Given the description of an element on the screen output the (x, y) to click on. 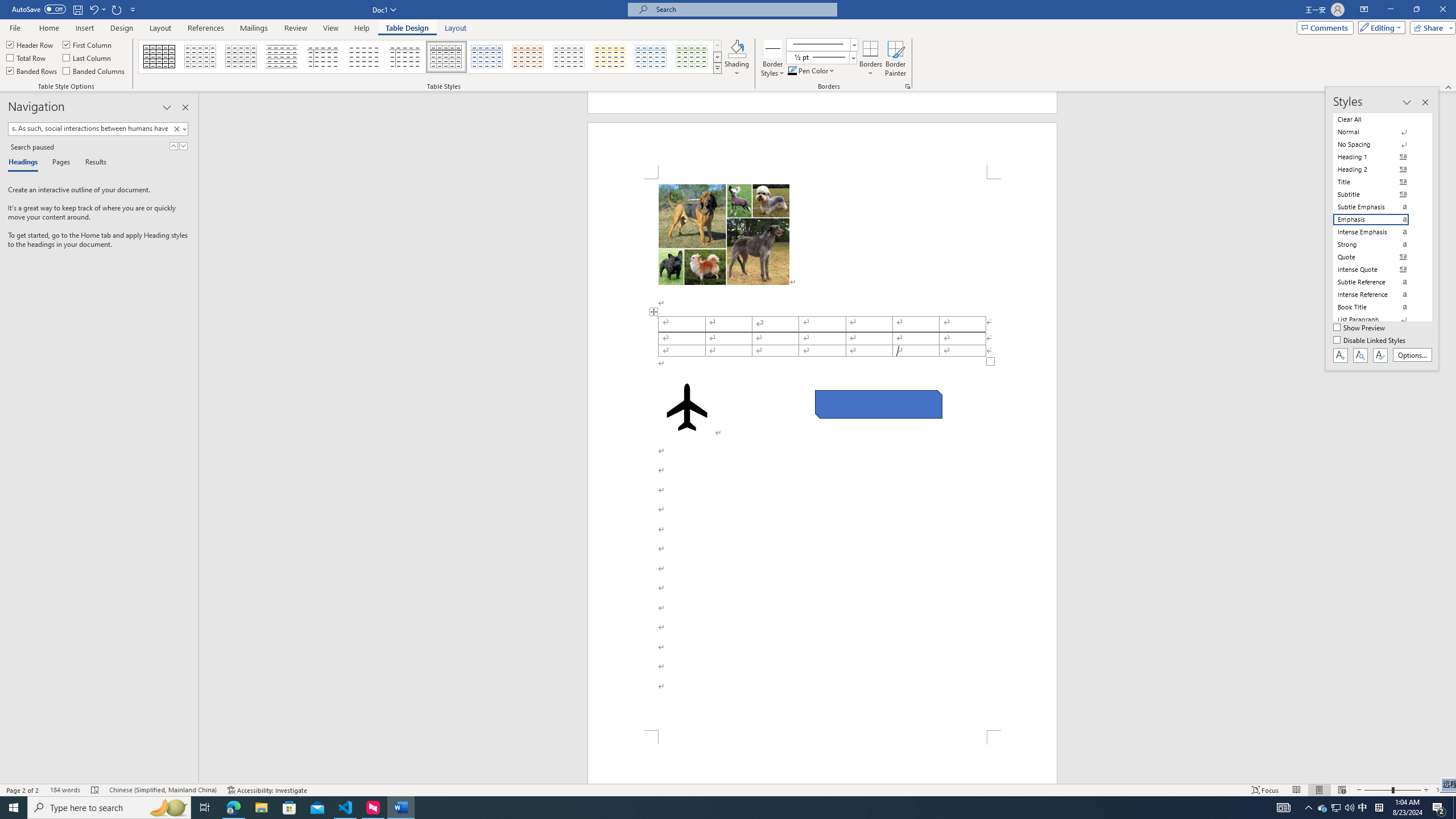
Subtle Reference (1377, 282)
Previous Result (173, 145)
Header Row (30, 44)
List Paragraph (1377, 319)
Last Column (88, 56)
Borders and Shading... (907, 85)
Zoom 104% (1443, 790)
Next Result (183, 145)
Grid Table 1 Light - Accent 6 (691, 56)
Page 2 content (822, 454)
Plain Table 5 (405, 56)
